Given the description of an element on the screen output the (x, y) to click on. 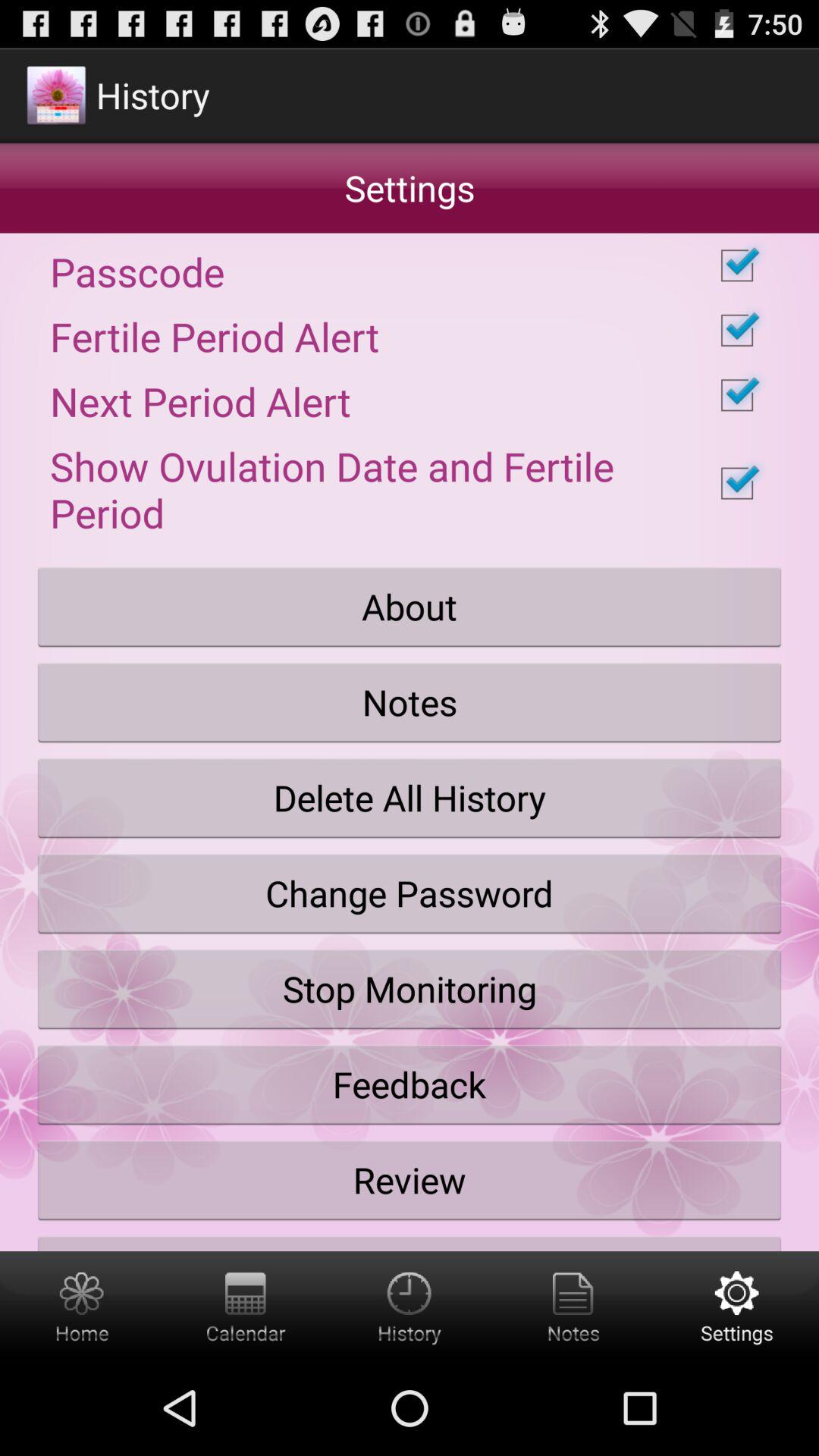
click item above the feedback button (409, 988)
